Given the description of an element on the screen output the (x, y) to click on. 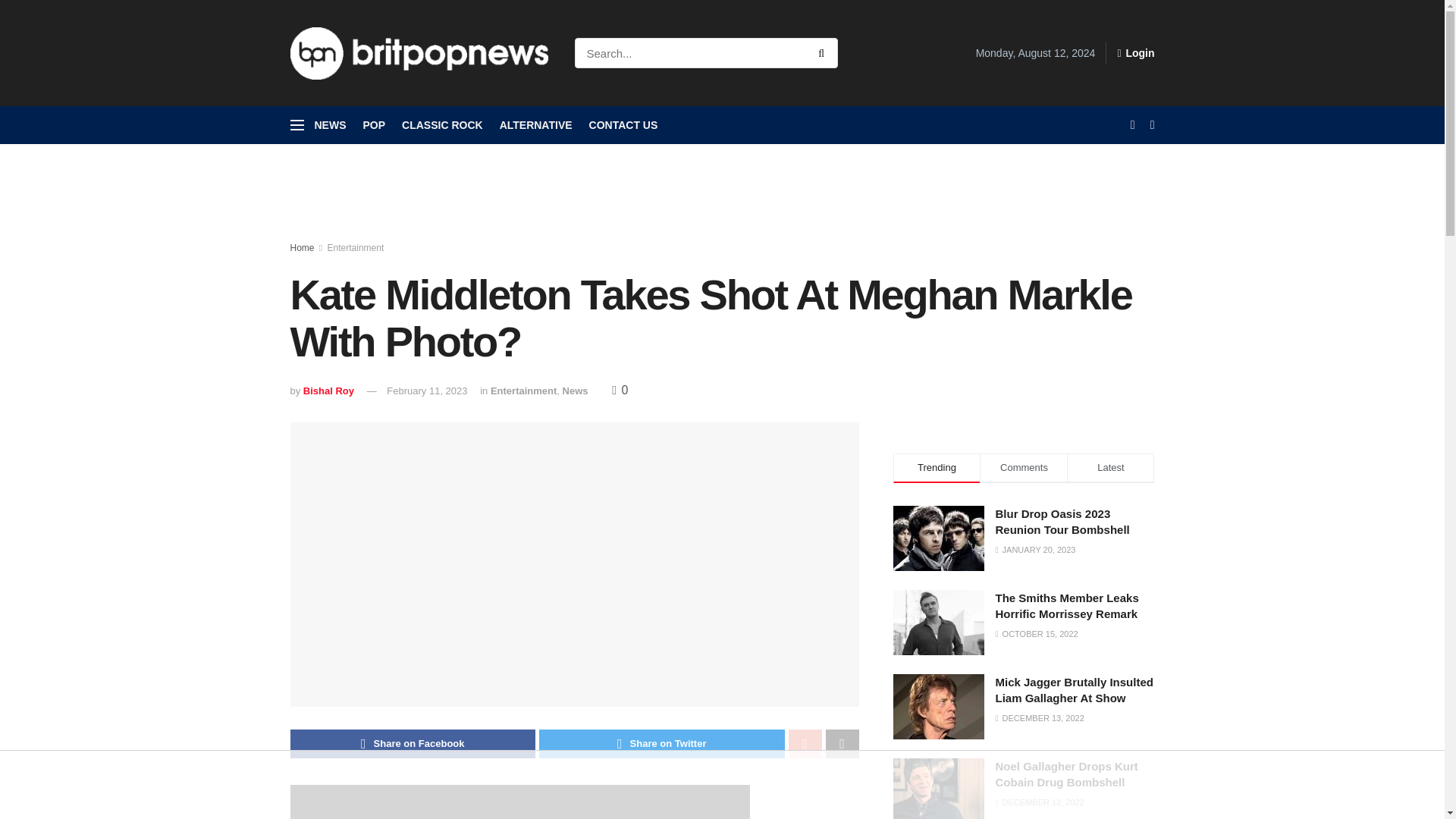
Login (1135, 53)
Share on Facebook (412, 743)
CLASSIC ROCK (442, 125)
February 11, 2023 (427, 390)
0 (619, 390)
3rd party ad content (721, 785)
Bishal Roy (327, 390)
Entertainment (355, 247)
CONTACT US (623, 125)
